Given the description of an element on the screen output the (x, y) to click on. 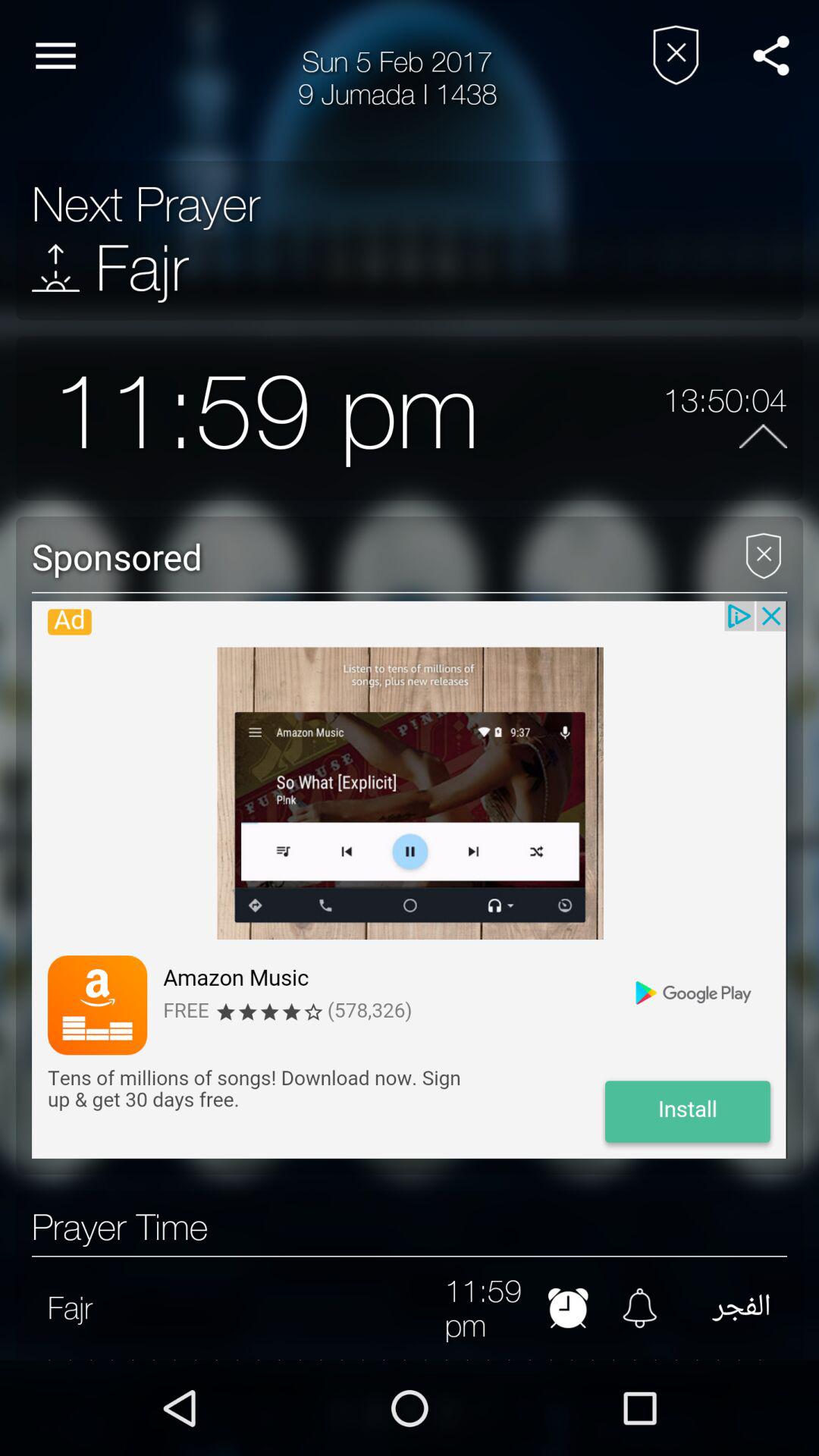
tap item below next prayer (55, 267)
